Given the description of an element on the screen output the (x, y) to click on. 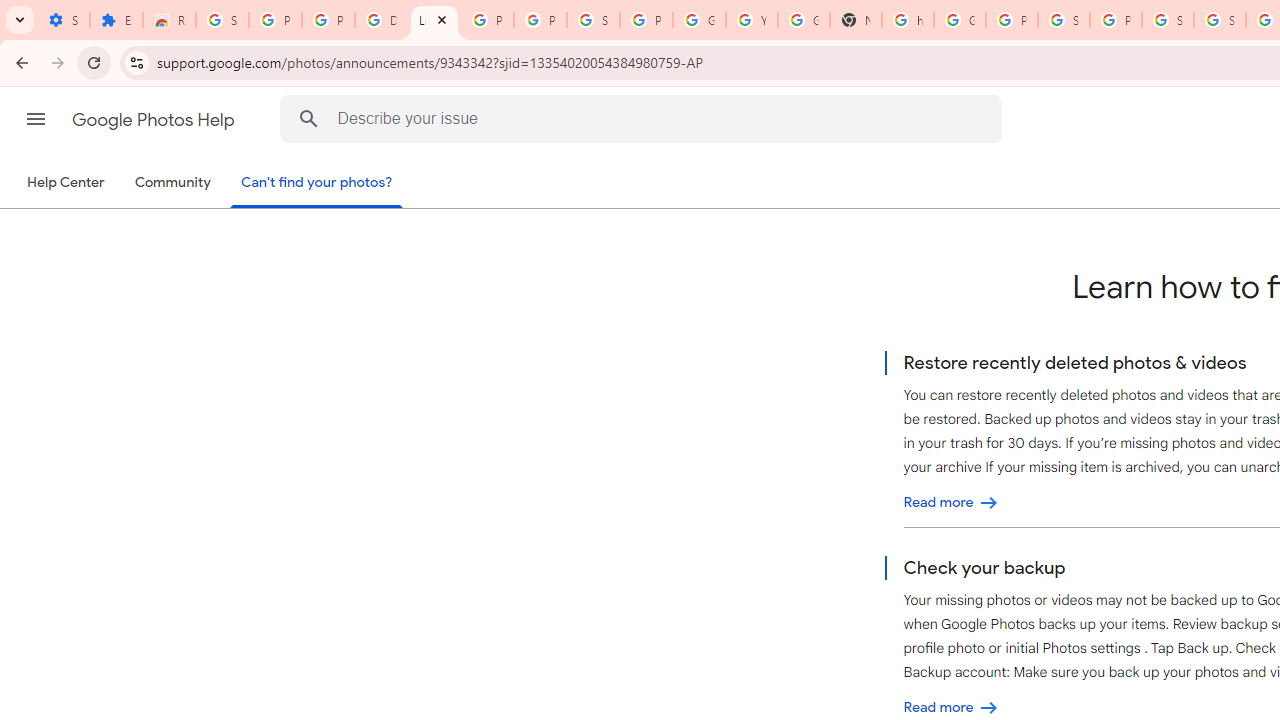
YouTube (751, 20)
Reviews: Helix Fruit Jump Arcade Game (169, 20)
Community (171, 183)
Learn how to find your photos - Google Photos Help (434, 20)
Settings - On startup (63, 20)
Search Help Center (309, 118)
Check your backup (951, 708)
Restore recently deleted photos & videos (951, 502)
Main menu (35, 119)
